Given the description of an element on the screen output the (x, y) to click on. 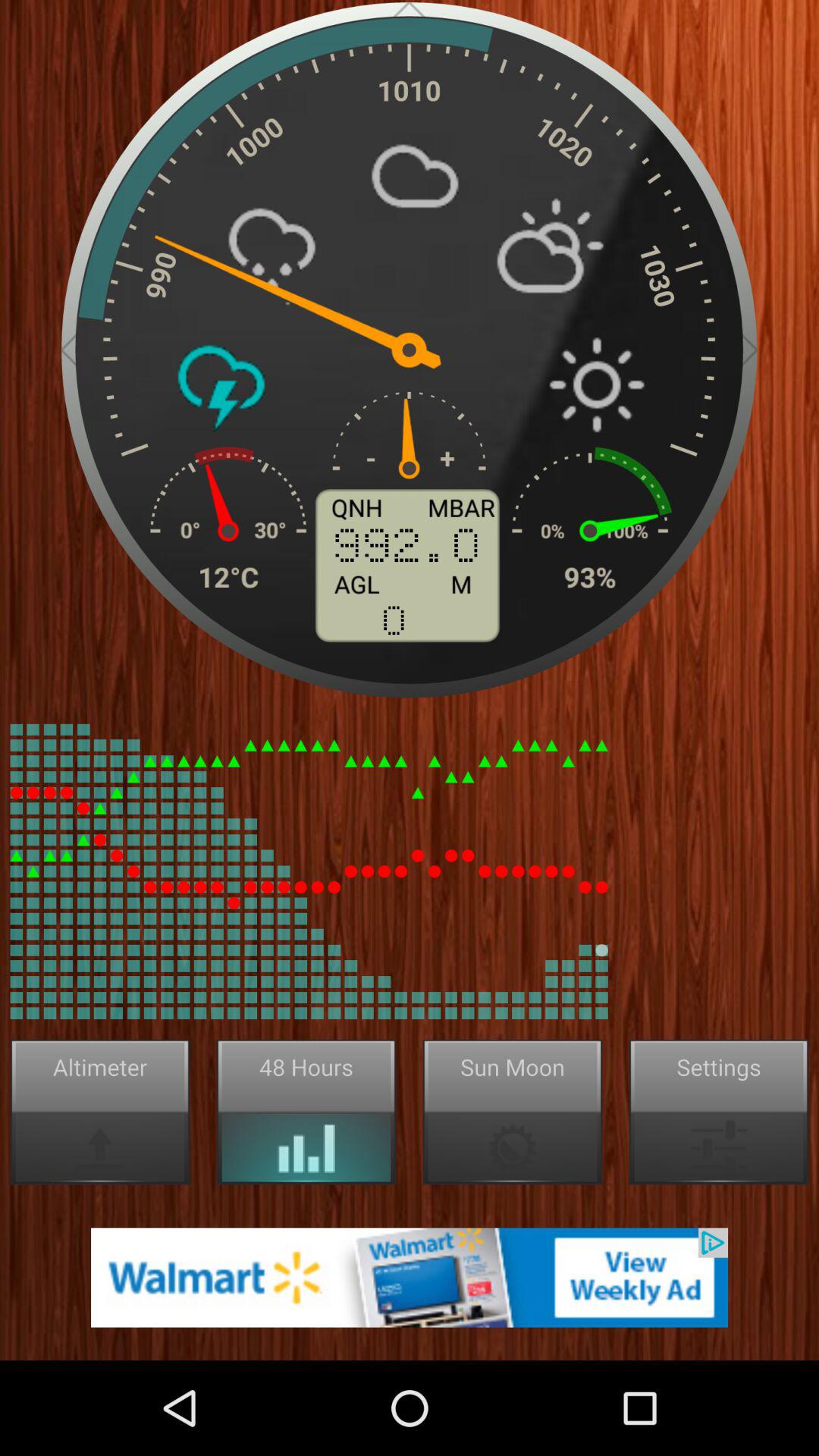
go to walmart (409, 1277)
